Given the description of an element on the screen output the (x, y) to click on. 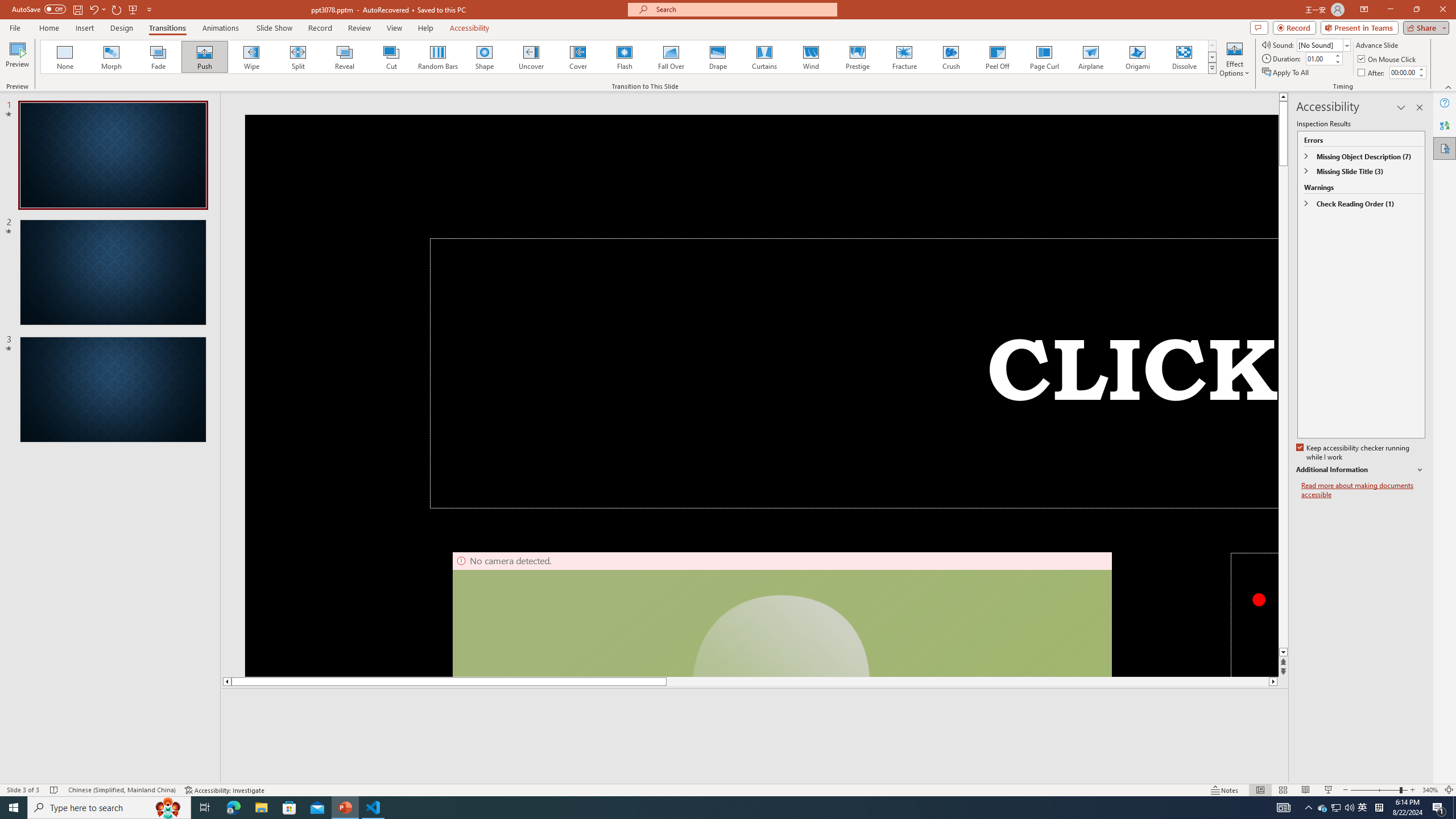
Zoom 340% (1430, 790)
Page Curl (1043, 56)
Flash (624, 56)
Prestige (857, 56)
